Given the description of an element on the screen output the (x, y) to click on. 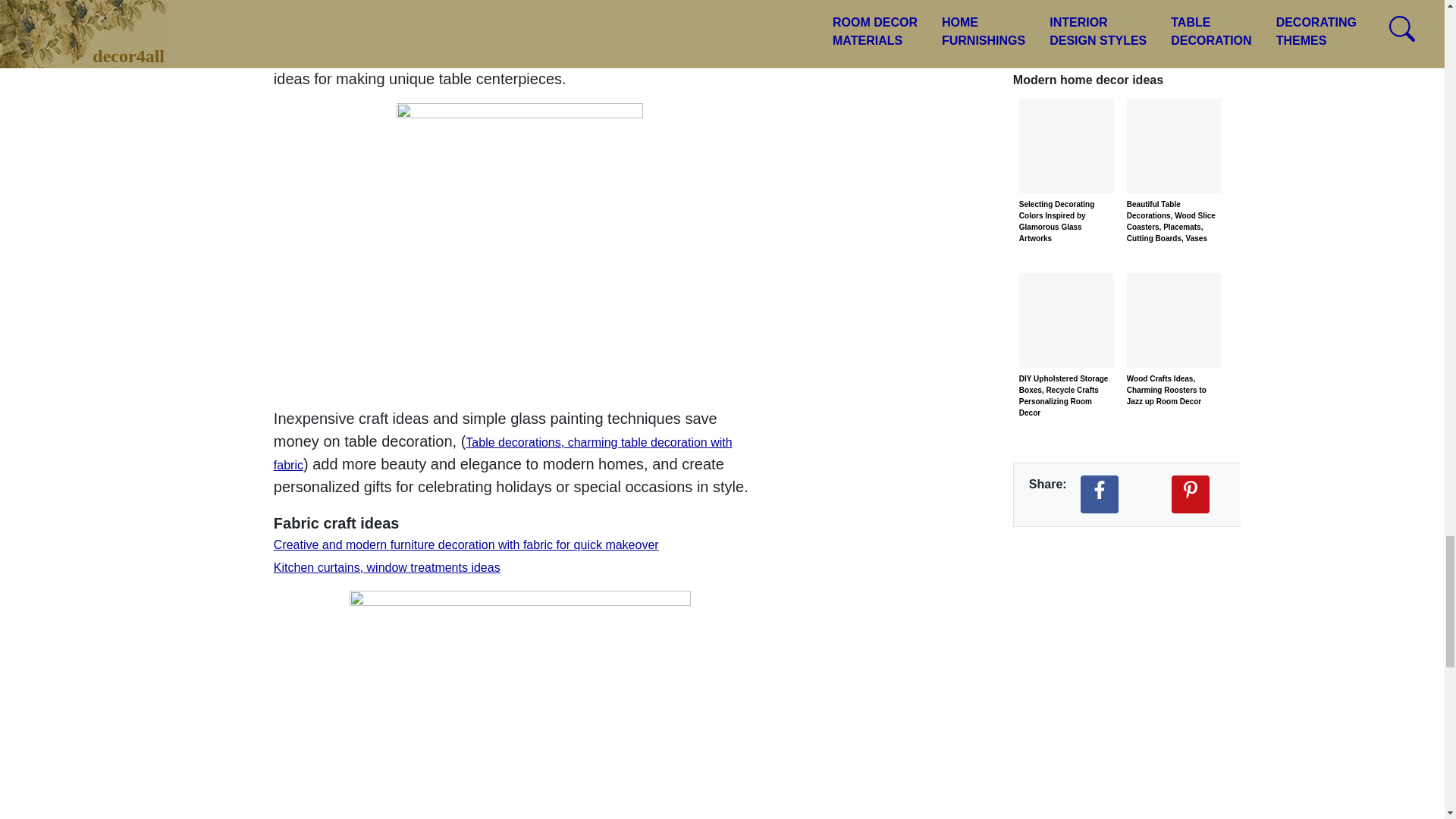
Kitchen curtains, window treatments ideas (386, 567)
Table decorations, charming table decoration with fabric (502, 453)
10 modern and simple wall decoration ideas with fabric (430, 33)
